Given the description of an element on the screen output the (x, y) to click on. 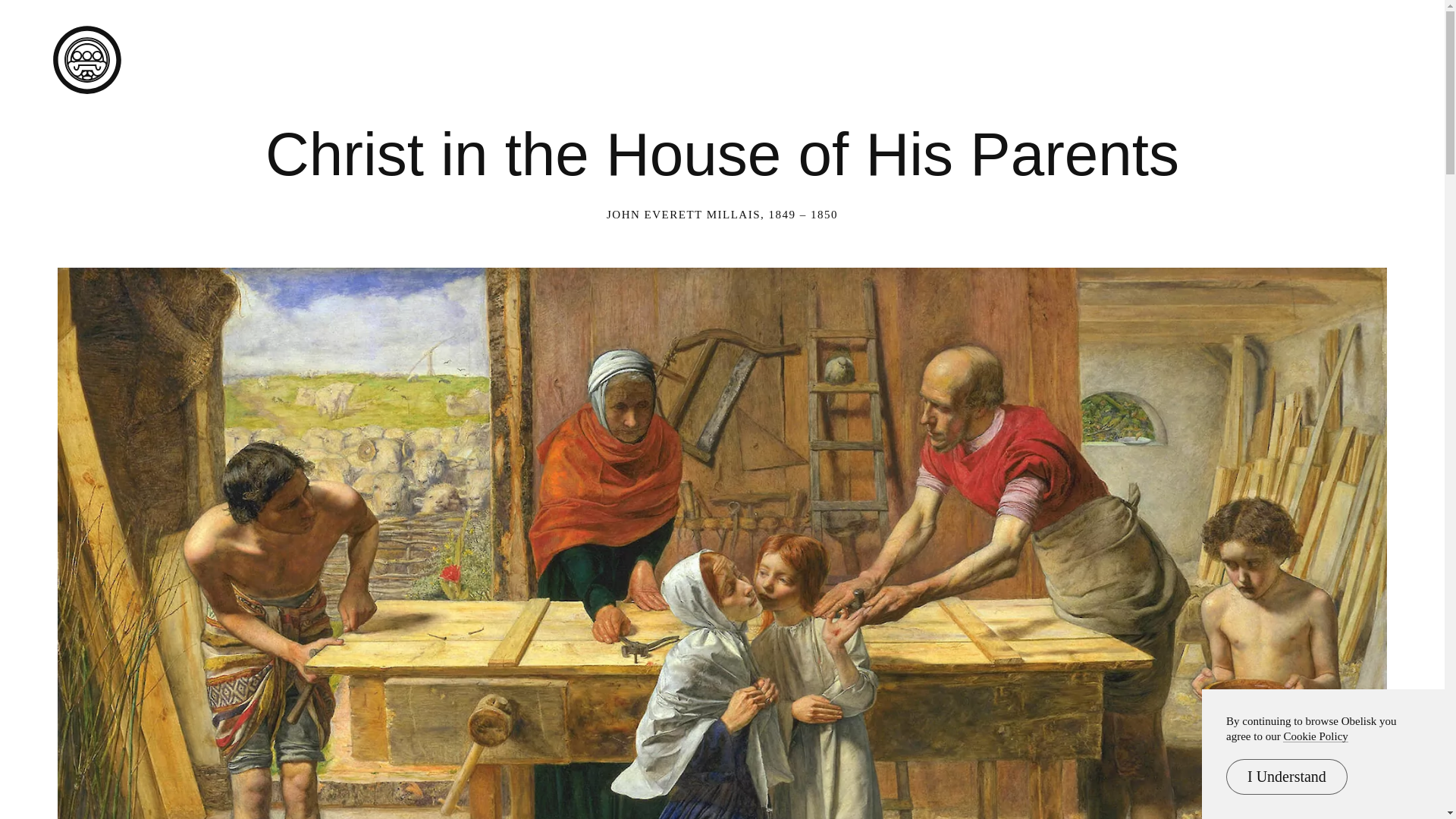
JOHN EVERETT MILLAIS (683, 214)
